Given the description of an element on the screen output the (x, y) to click on. 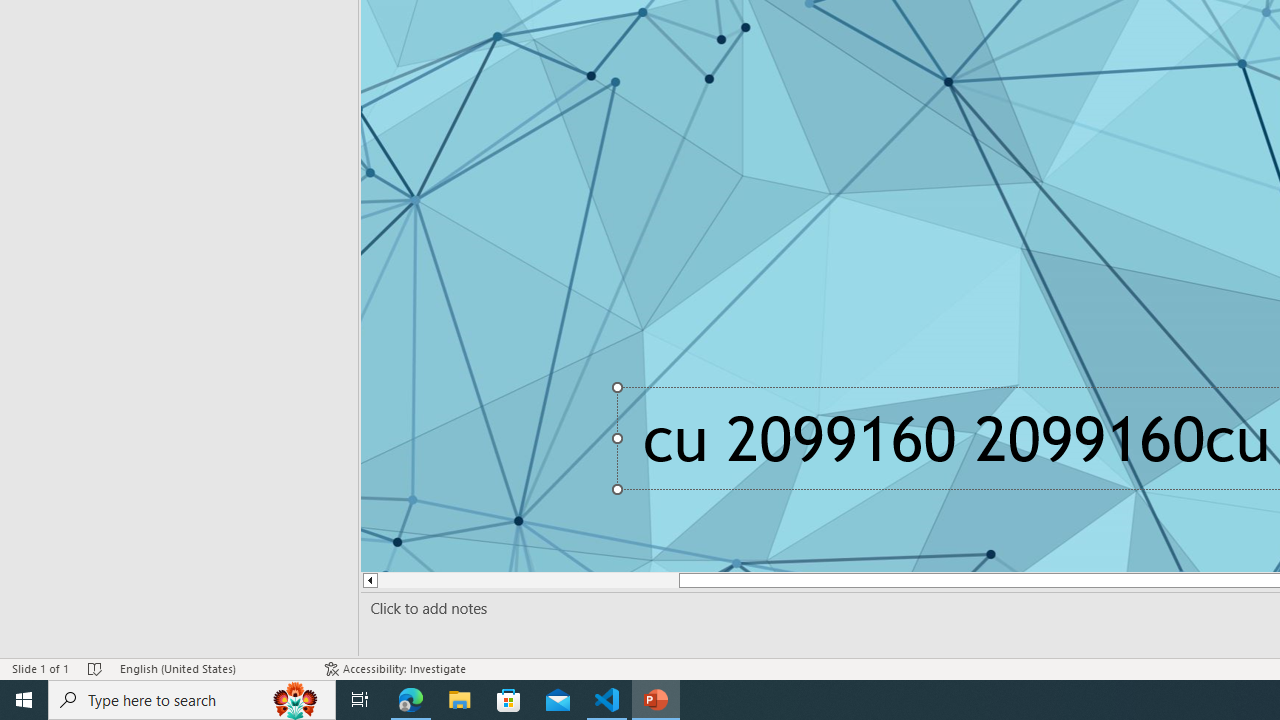
Page up (518, 579)
